Given the description of an element on the screen output the (x, y) to click on. 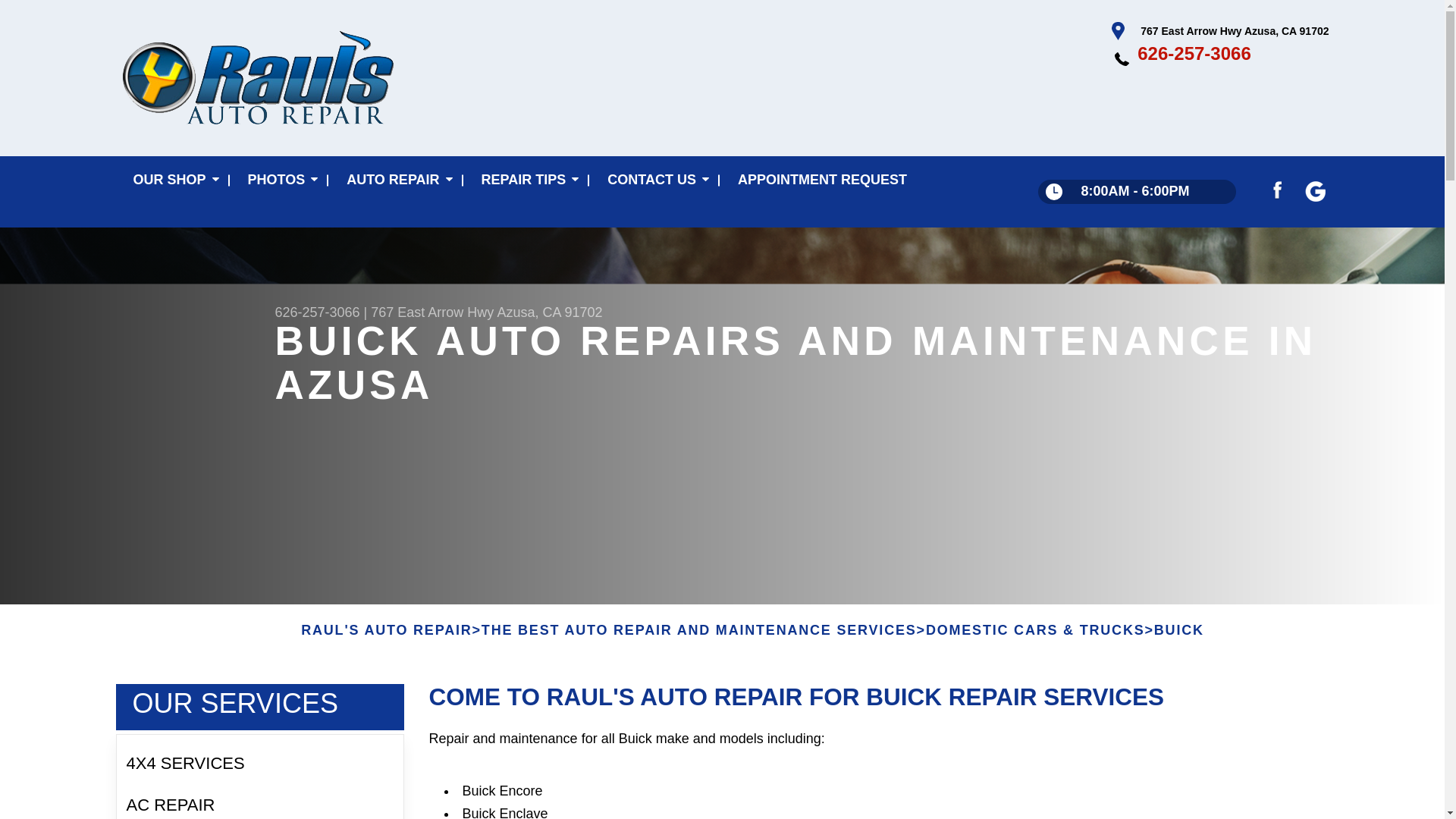
REPAIR TIPS (527, 180)
PHOTOS (280, 180)
AUTO REPAIR (396, 180)
626-257-3066 (1193, 53)
CONTACT US (654, 180)
APPOINTMENT REQUEST (822, 180)
OUR SHOP (172, 180)
8:00AM - 6:00PM (1136, 191)
